Given the description of an element on the screen output the (x, y) to click on. 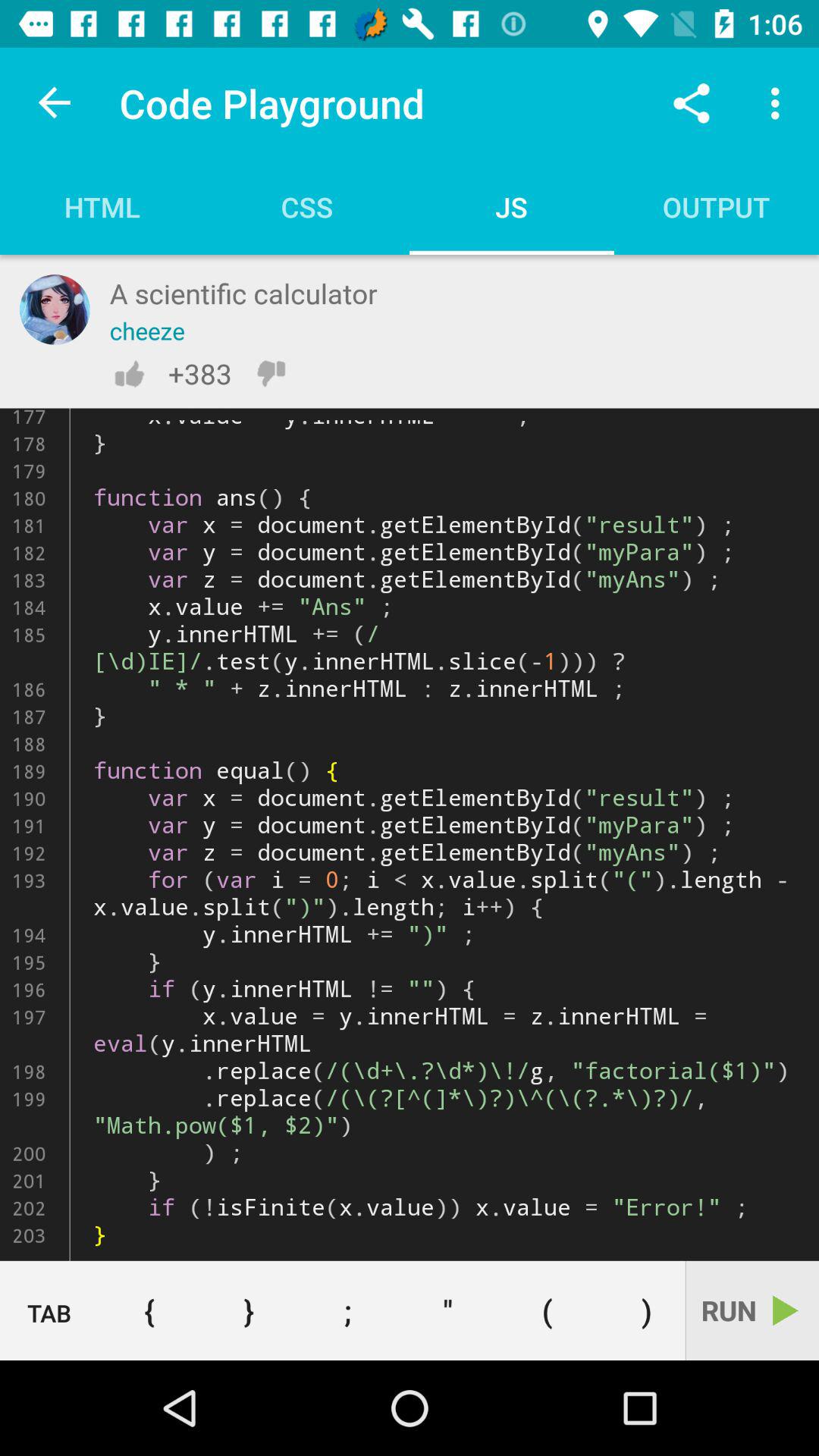
scroll to ( icon (547, 1310)
